Given the description of an element on the screen output the (x, y) to click on. 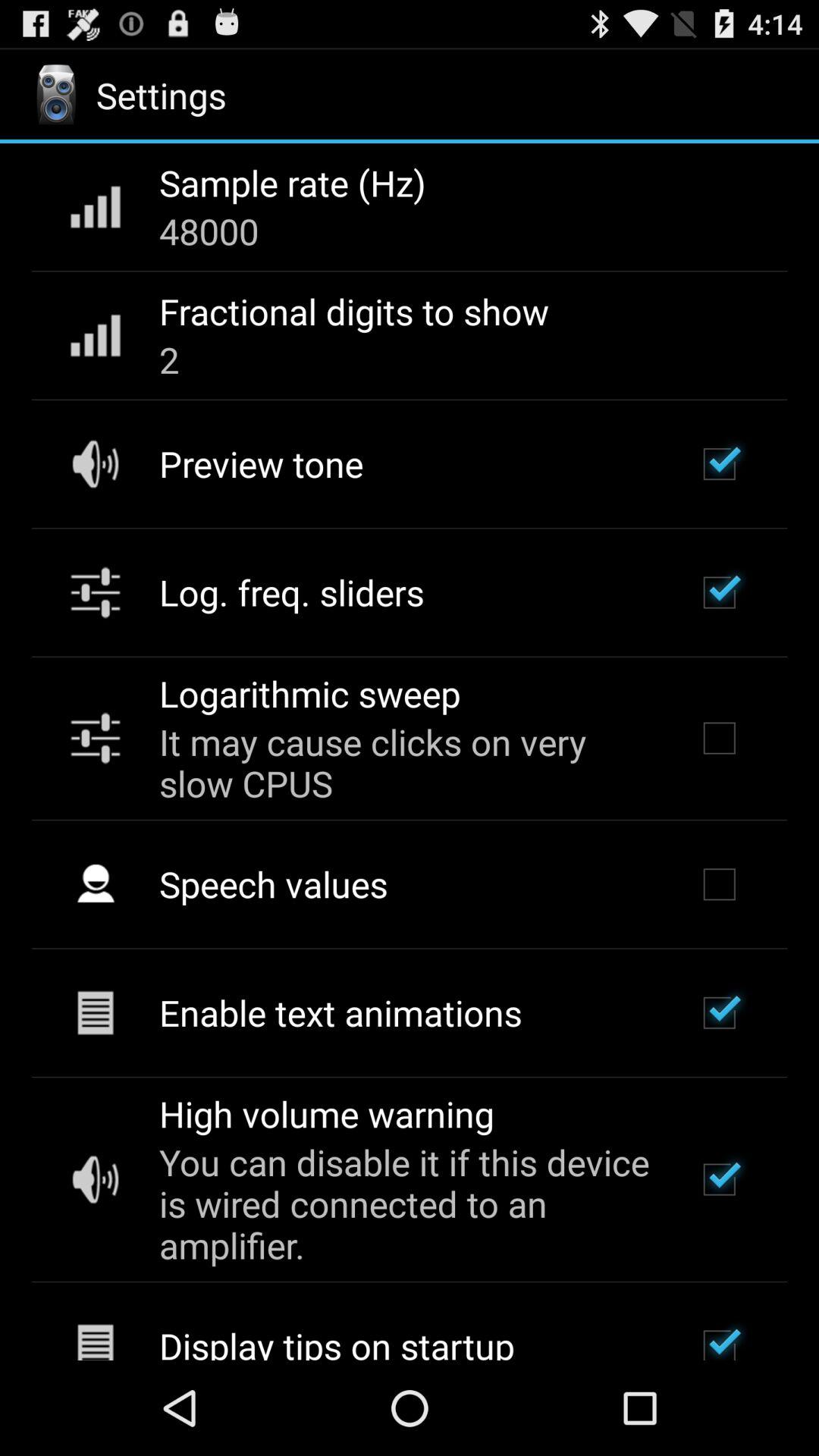
click item below preview tone icon (291, 592)
